Given the description of an element on the screen output the (x, y) to click on. 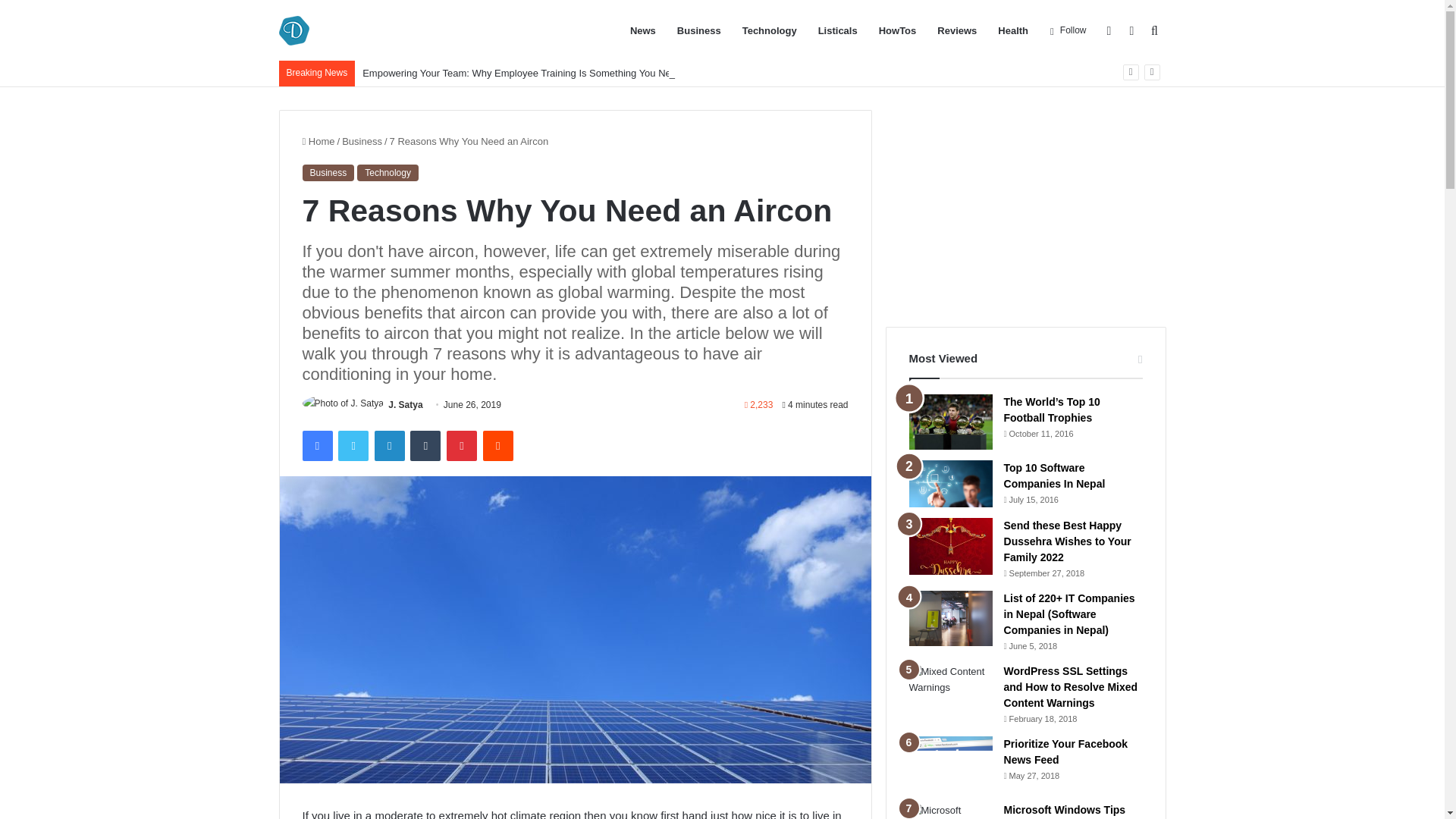
Pinterest (461, 445)
Technology (387, 172)
Follow (1068, 30)
Home (317, 141)
Tumblr (425, 445)
LinkedIn (389, 445)
HowTos (897, 30)
Twitter (352, 445)
Reddit (498, 445)
J. Satya (405, 404)
